Given the description of an element on the screen output the (x, y) to click on. 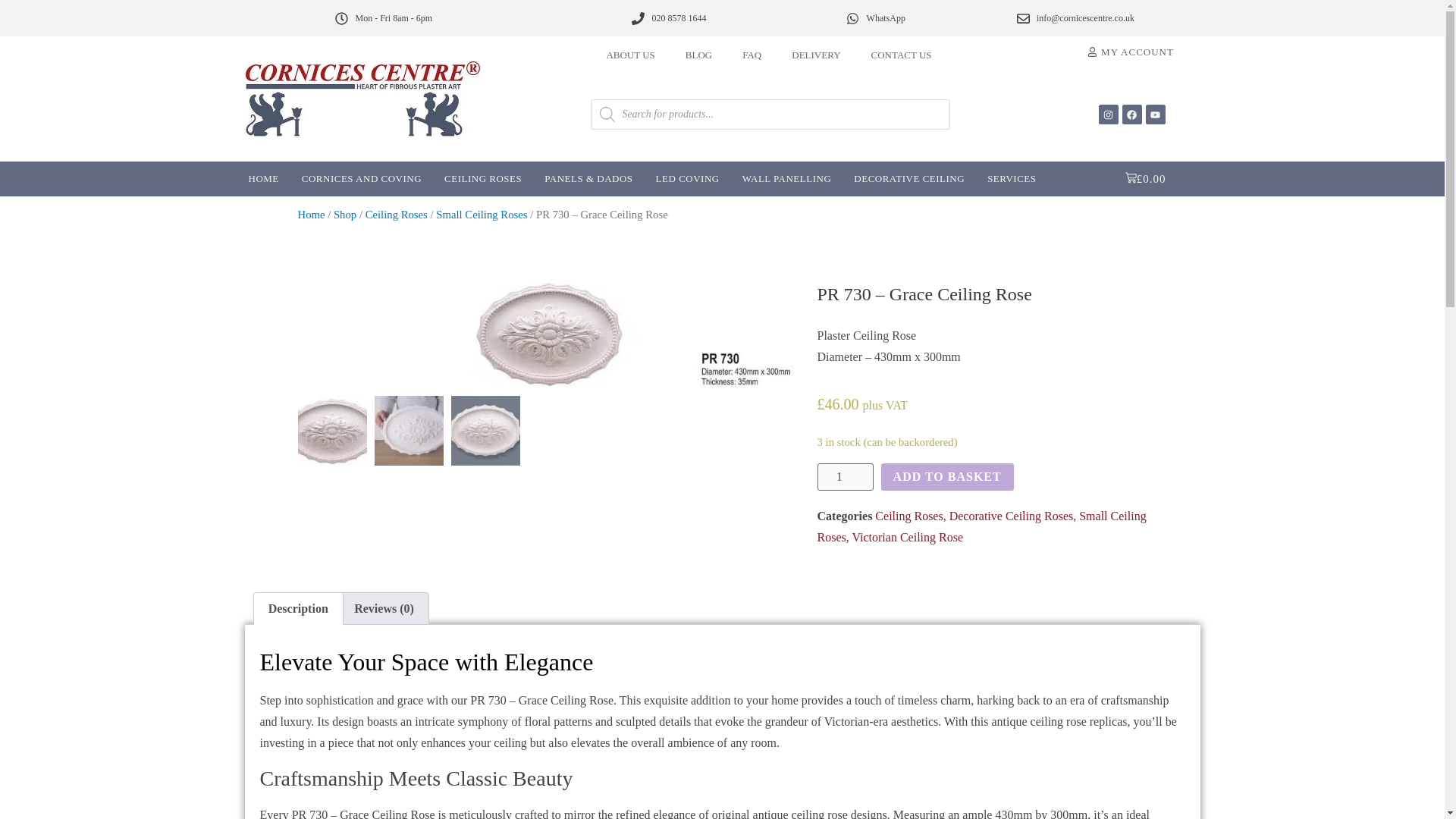
DECORATIVE CEILING (909, 178)
020 8578 1644 (668, 17)
HOME (262, 178)
WALL PANELLING (786, 178)
LED COVING (687, 178)
BLOG (697, 54)
CORNICES AND COVING (360, 178)
WhatsApp (875, 17)
ABOUT US (630, 54)
MY ACCOUNT (1130, 52)
1 (844, 476)
PR-730-victorian-ceiling-roses (549, 333)
DELIVERY (816, 54)
FAQ (751, 54)
SERVICES (1010, 178)
